Given the description of an element on the screen output the (x, y) to click on. 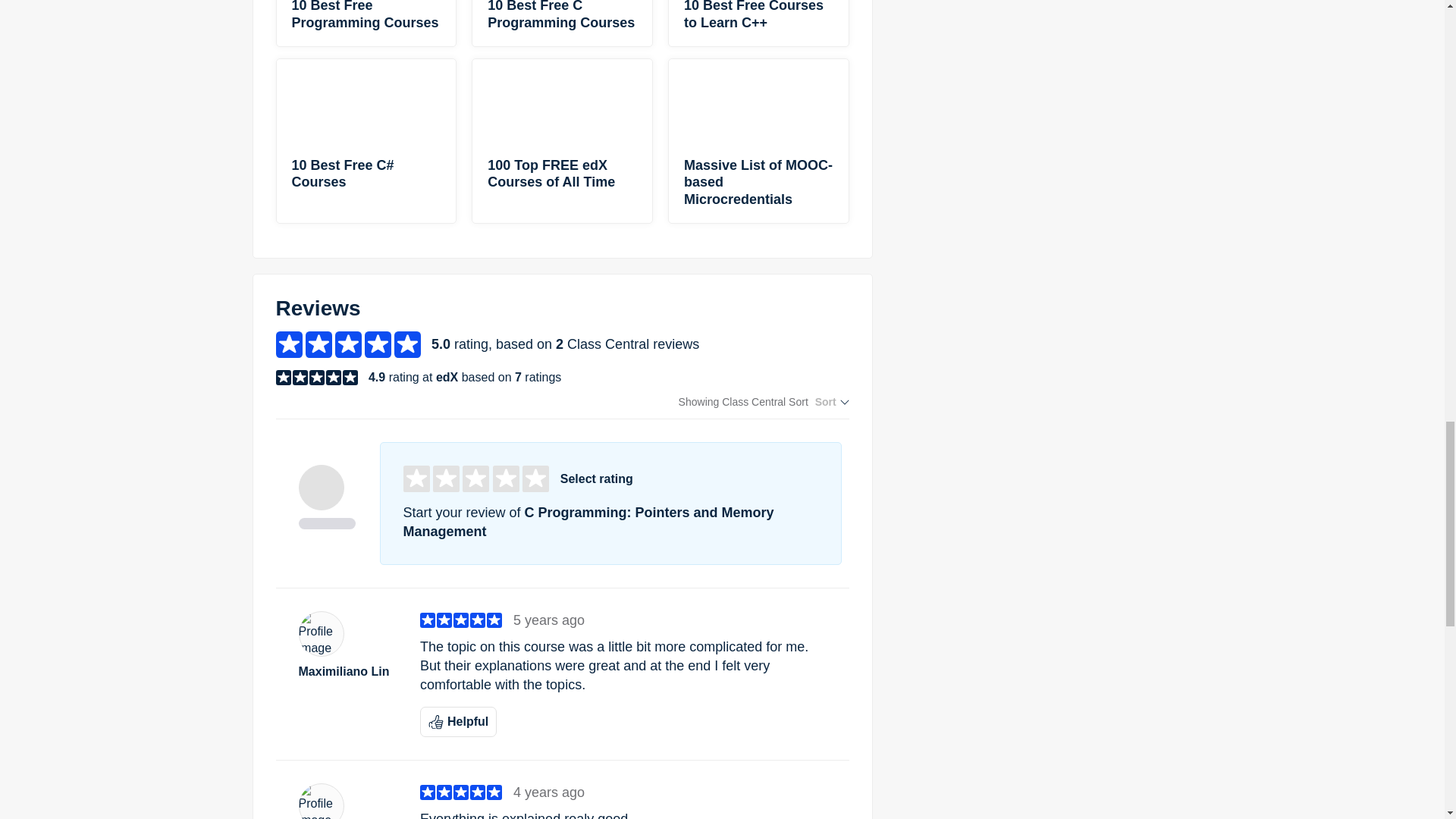
Maximiliano Lin (347, 671)
